Given the description of an element on the screen output the (x, y) to click on. 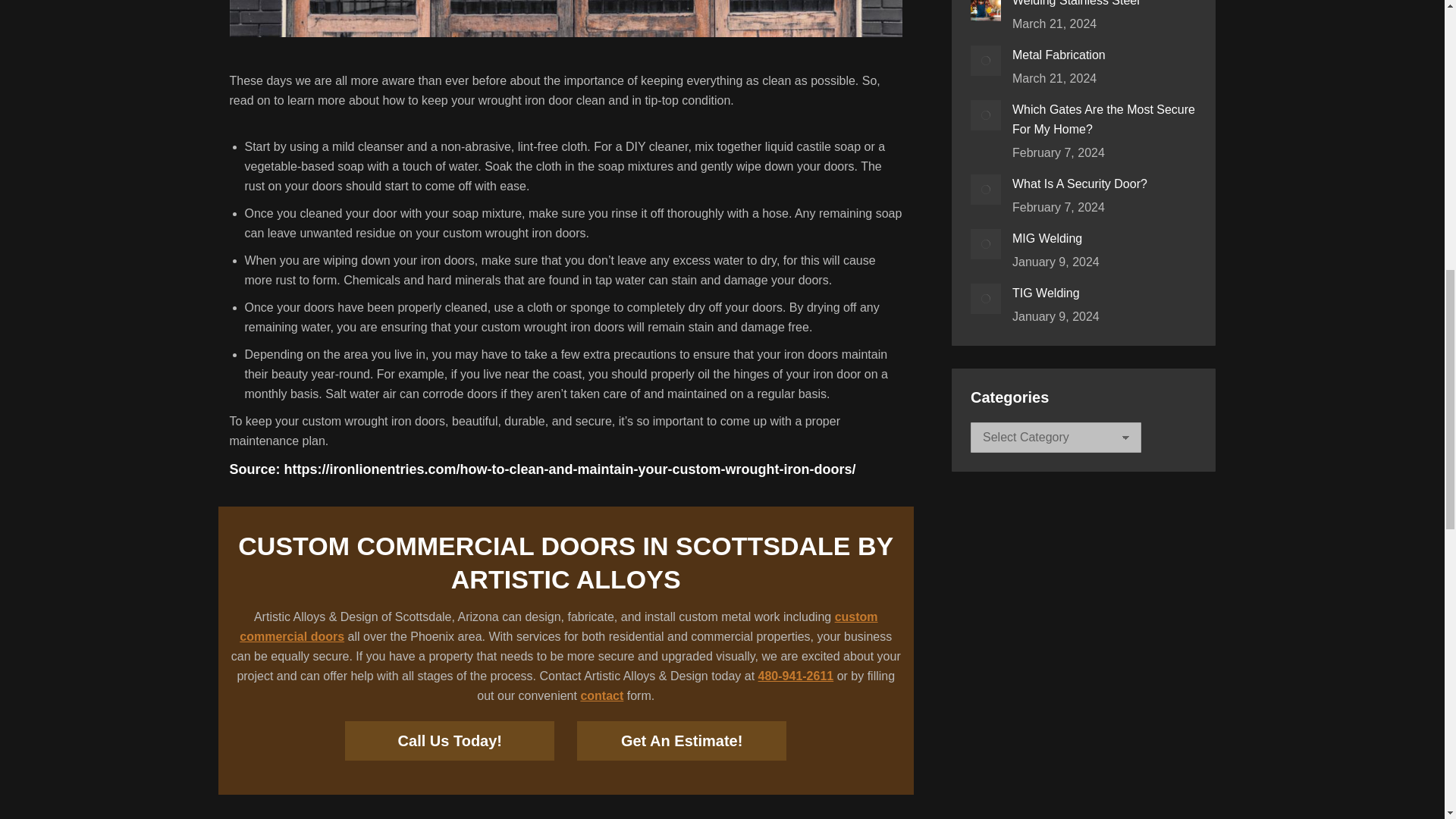
custom-commercial-doors (565, 18)
